Given the description of an element on the screen output the (x, y) to click on. 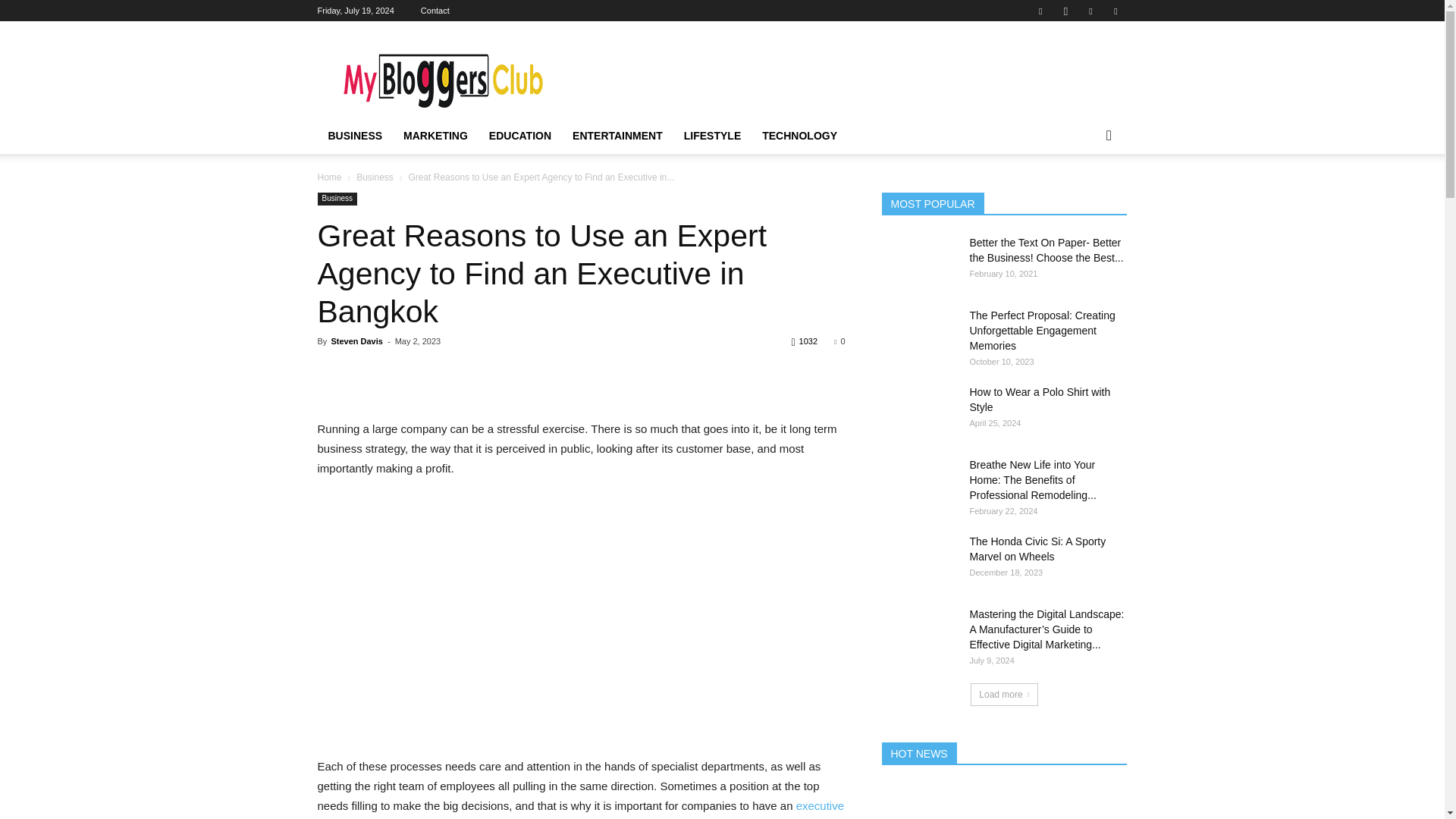
MyBloggerClub.com Logo (445, 76)
Pinterest (1090, 10)
Twitter (1114, 10)
Instagram (1065, 10)
View all posts in Business (374, 176)
Facebook (1040, 10)
